Given the description of an element on the screen output the (x, y) to click on. 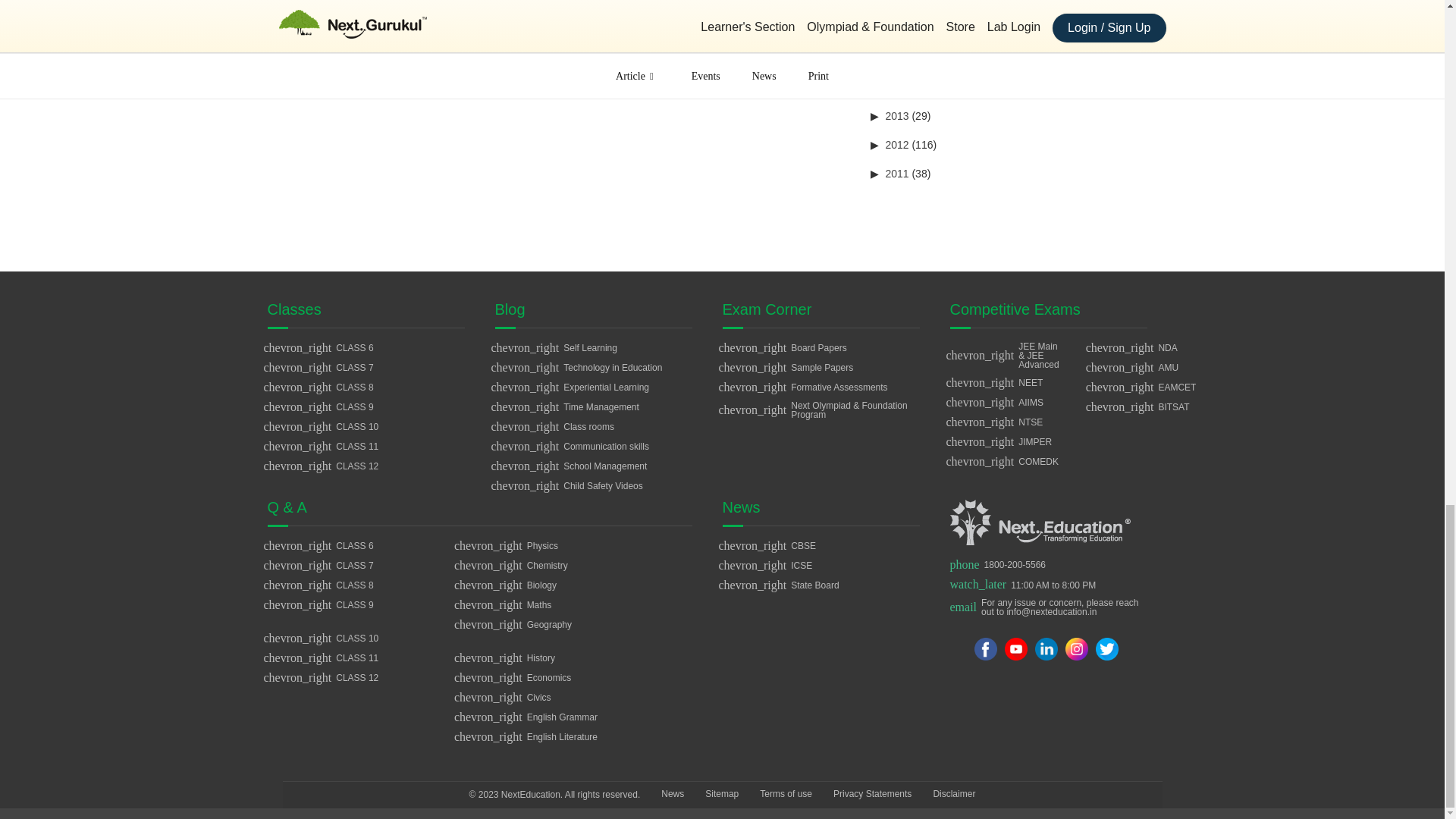
NextEducation (1039, 522)
